Given the description of an element on the screen output the (x, y) to click on. 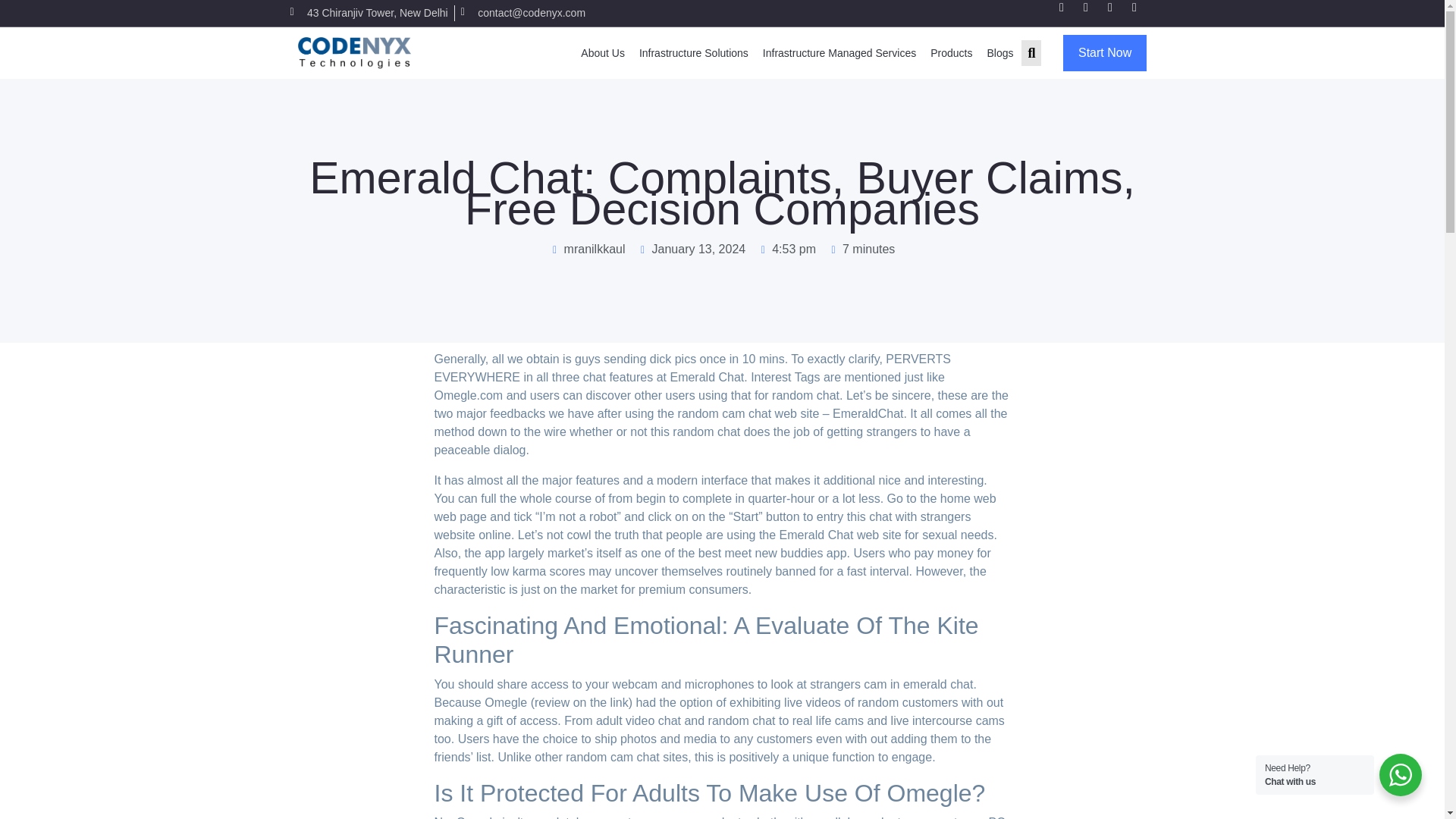
Blogs (1000, 52)
Infrastructure Managed Services (838, 52)
About Us (602, 52)
Infrastructure Solutions (693, 52)
Products (951, 52)
